Given the description of an element on the screen output the (x, y) to click on. 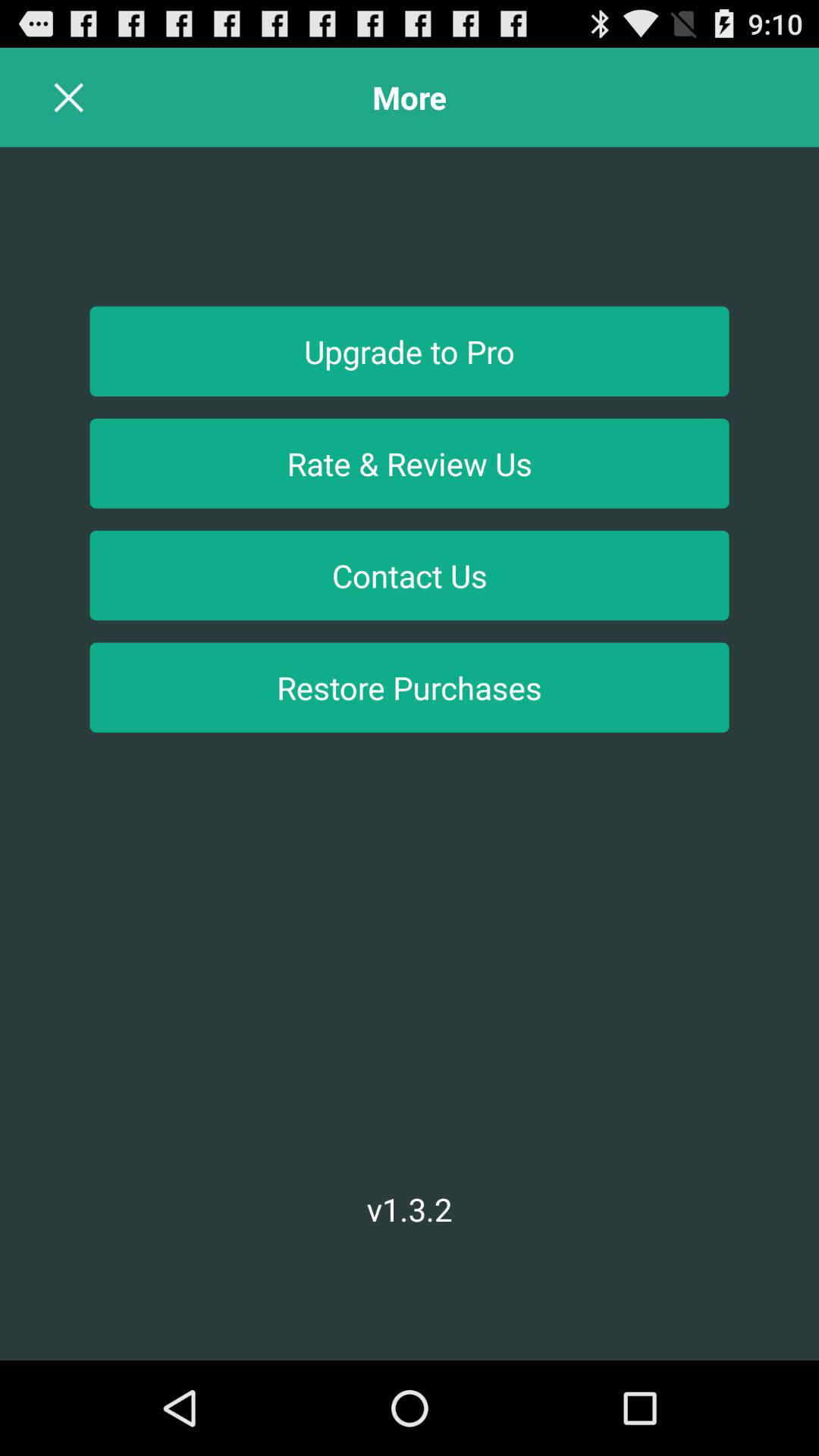
jump until the restore purchases item (409, 687)
